Given the description of an element on the screen output the (x, y) to click on. 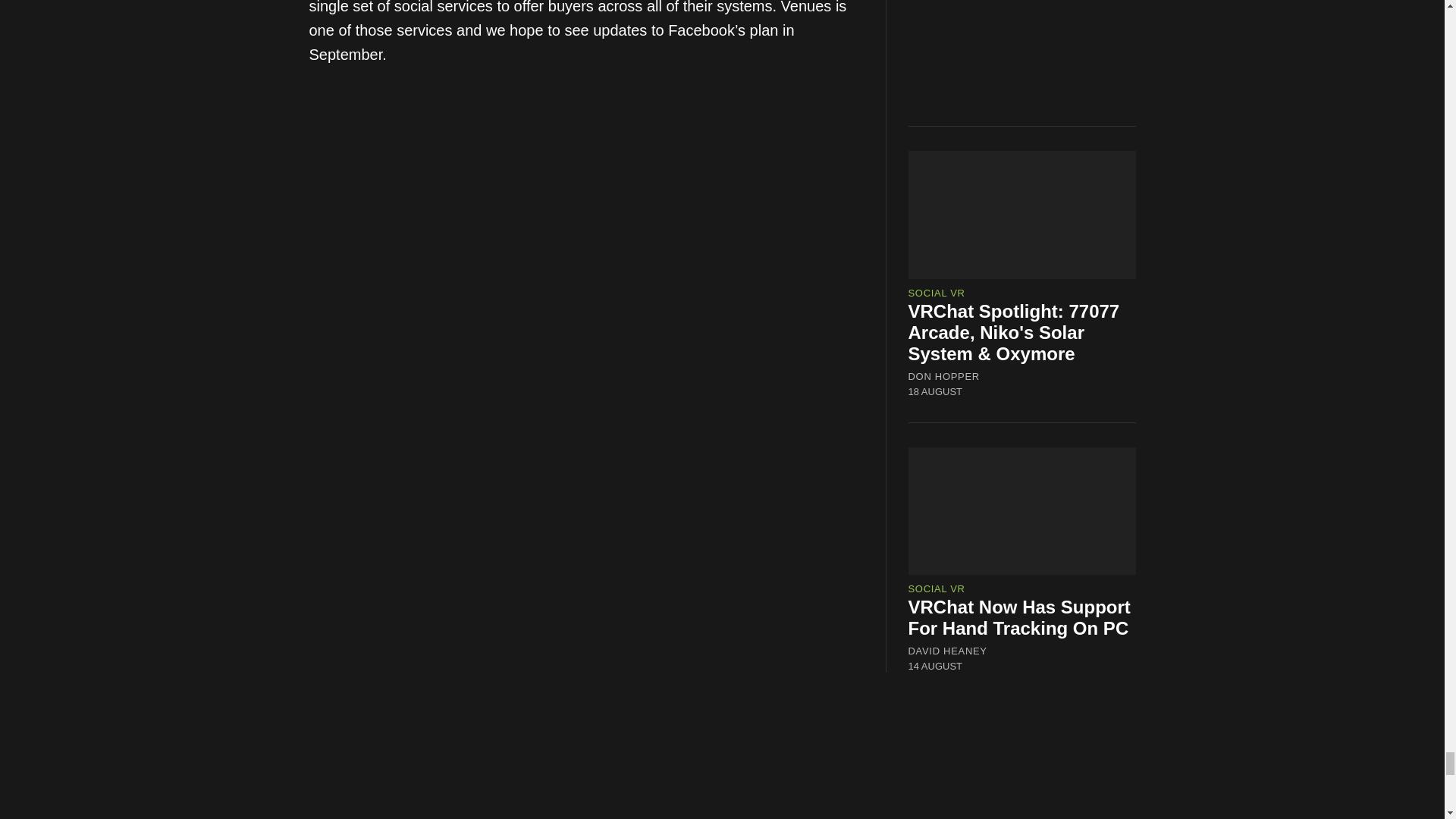
SOCIAL VR (936, 588)
SOCIAL VR (936, 292)
DAVID HEANEY (947, 651)
VRChat Now Has Support For Hand Tracking On PC (1019, 617)
DON HOPPER (943, 376)
